Given the description of an element on the screen output the (x, y) to click on. 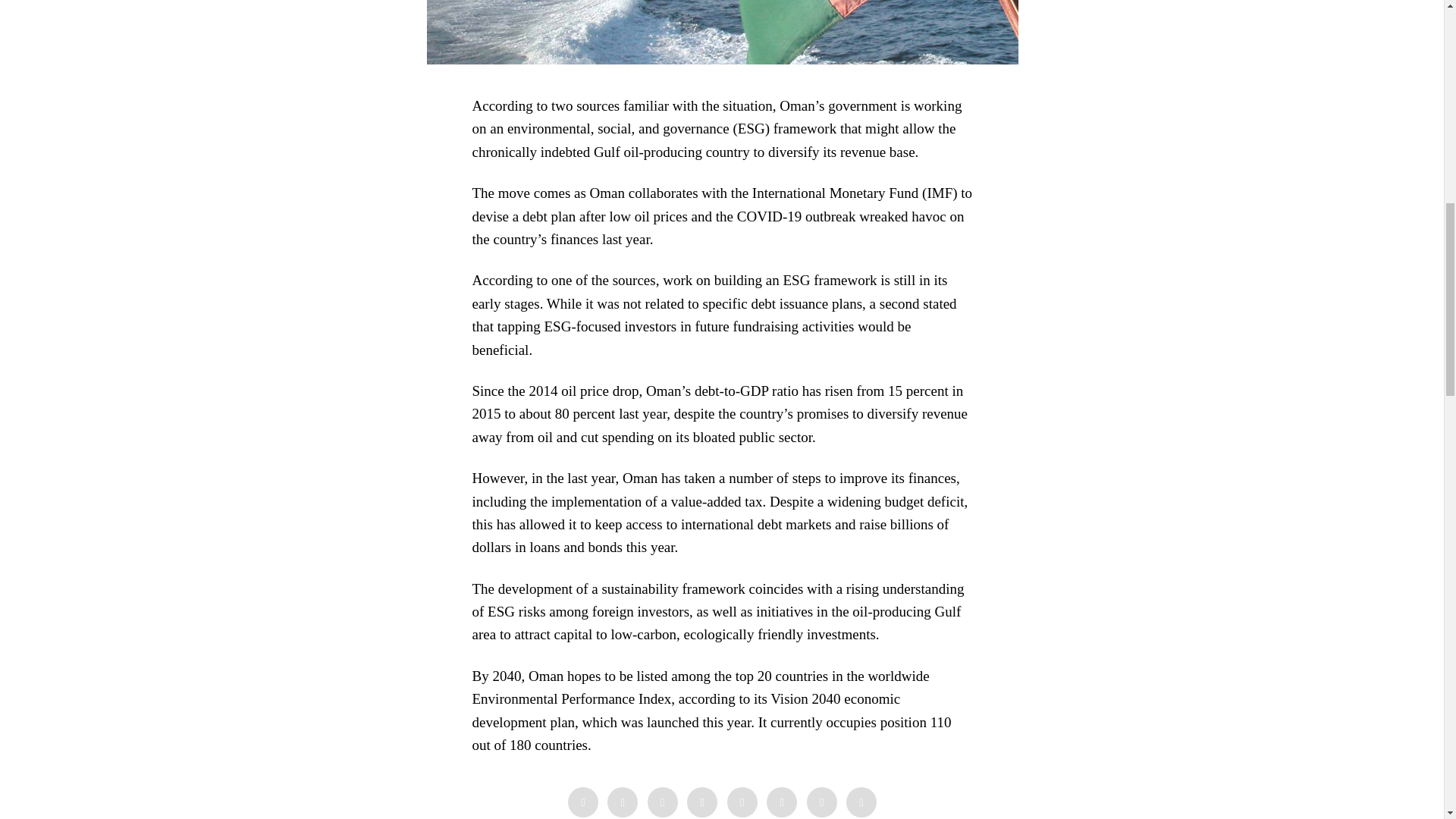
Linkedin (741, 802)
Twitter (662, 802)
Reddit (821, 802)
Whatsapp (781, 802)
Pinterest (702, 802)
Messenger (622, 802)
Email (860, 802)
Facebook (582, 802)
